Given the description of an element on the screen output the (x, y) to click on. 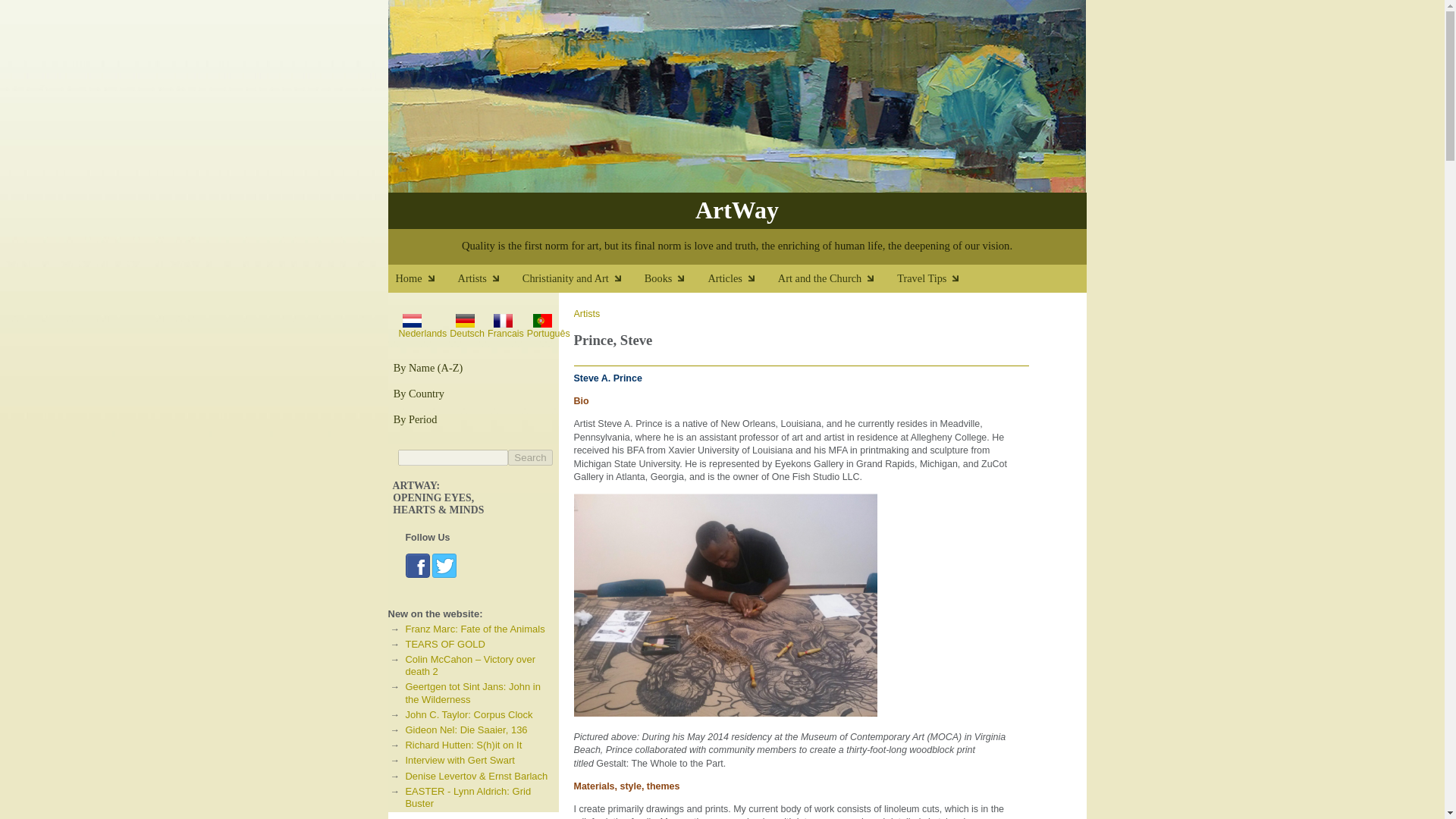
Christianity and Art (583, 281)
Search (529, 457)
Articles (742, 281)
Art and the Church (836, 281)
Home (427, 281)
Artists (490, 281)
Books (676, 281)
